Given the description of an element on the screen output the (x, y) to click on. 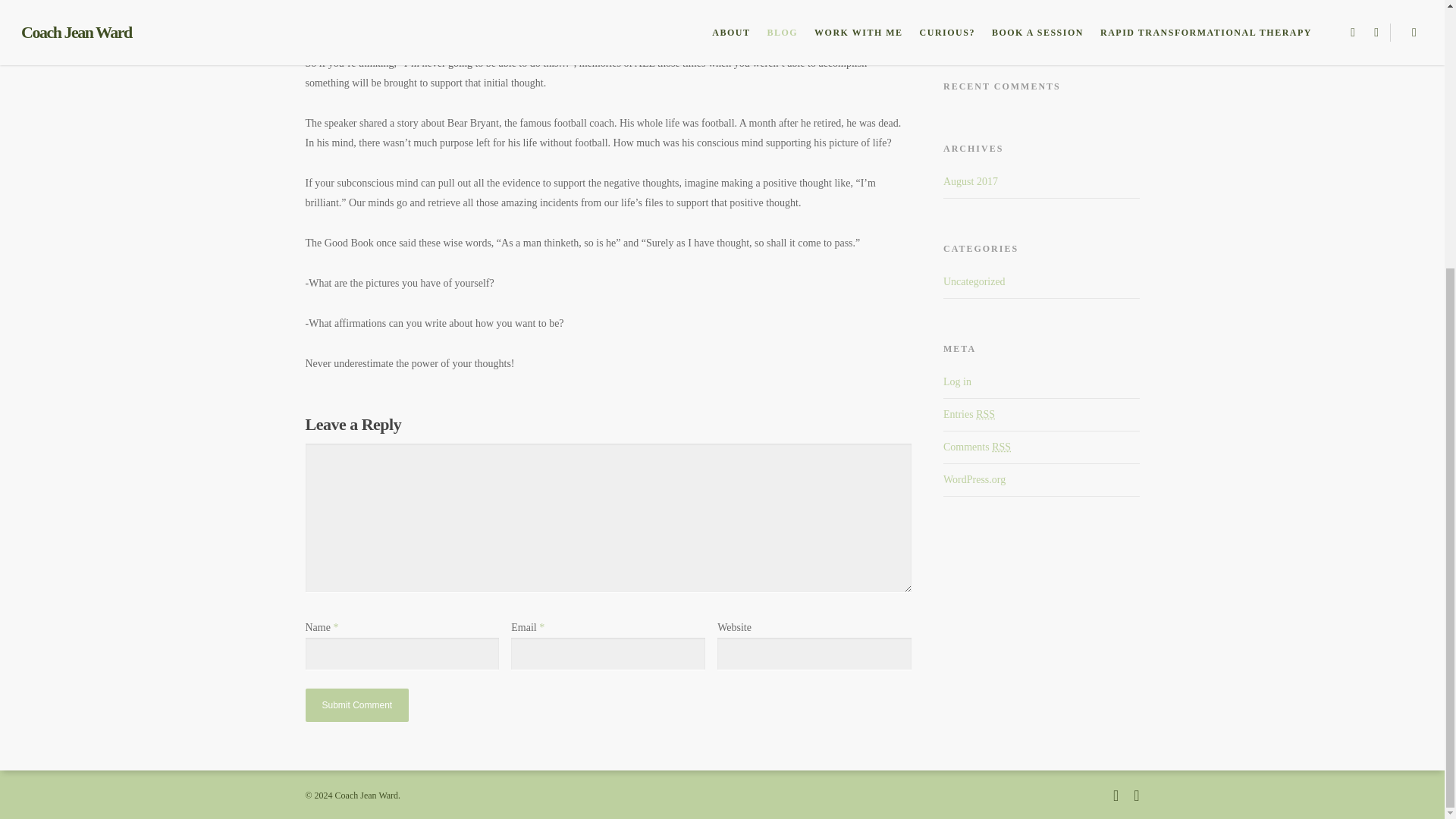
The Power of the Subconscious Mind (1023, 19)
WordPress.org (974, 479)
Uncategorized (1041, 284)
Entries RSS (968, 414)
Really Simple Syndication (984, 414)
Submit Comment (356, 704)
Log in (957, 381)
Comments RSS (976, 446)
Submit Comment (356, 704)
